Given the description of an element on the screen output the (x, y) to click on. 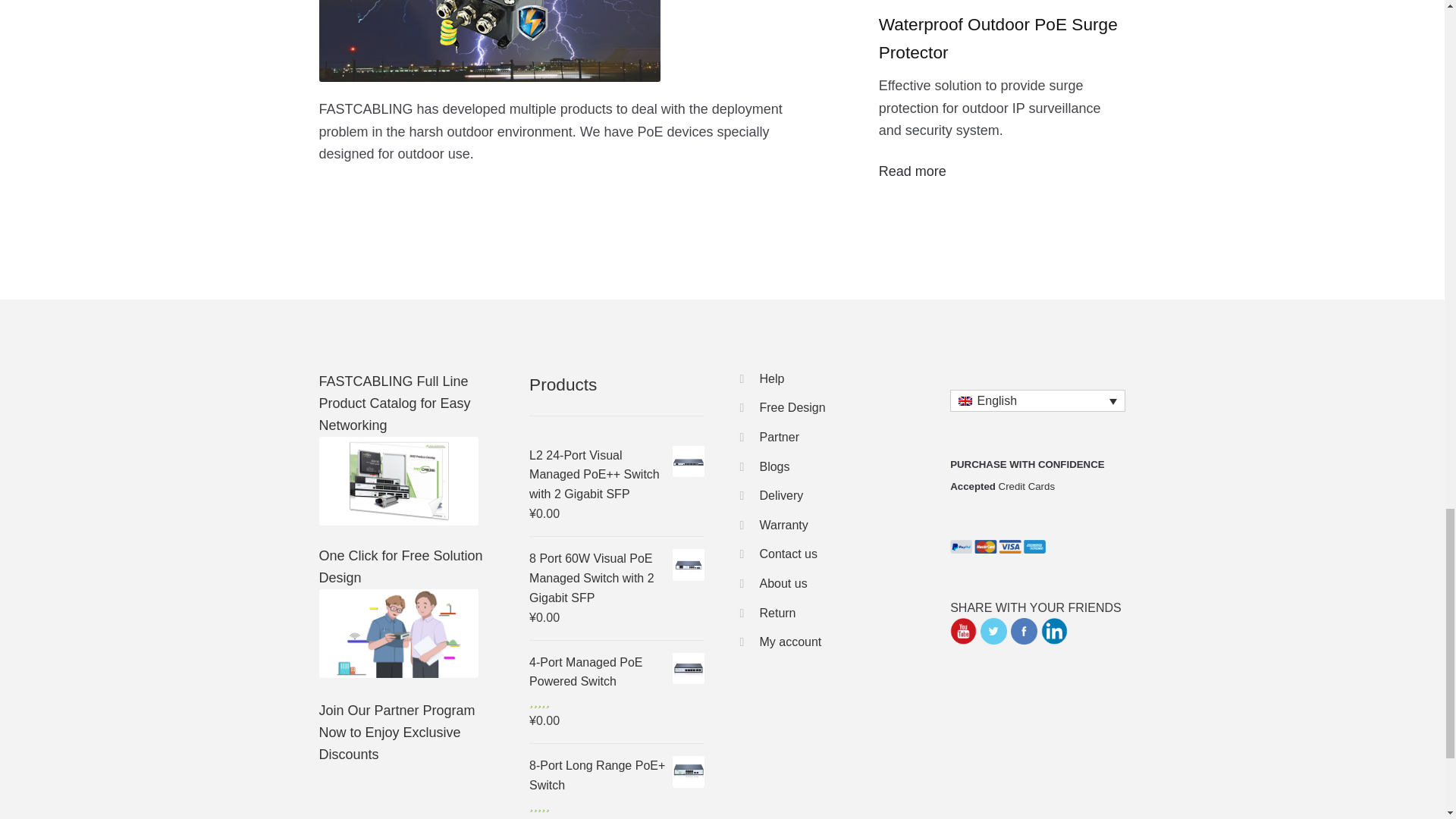
Linkedin (1054, 631)
Twitter (993, 631)
Facebook (1023, 631)
Youtube (963, 631)
